Given the description of an element on the screen output the (x, y) to click on. 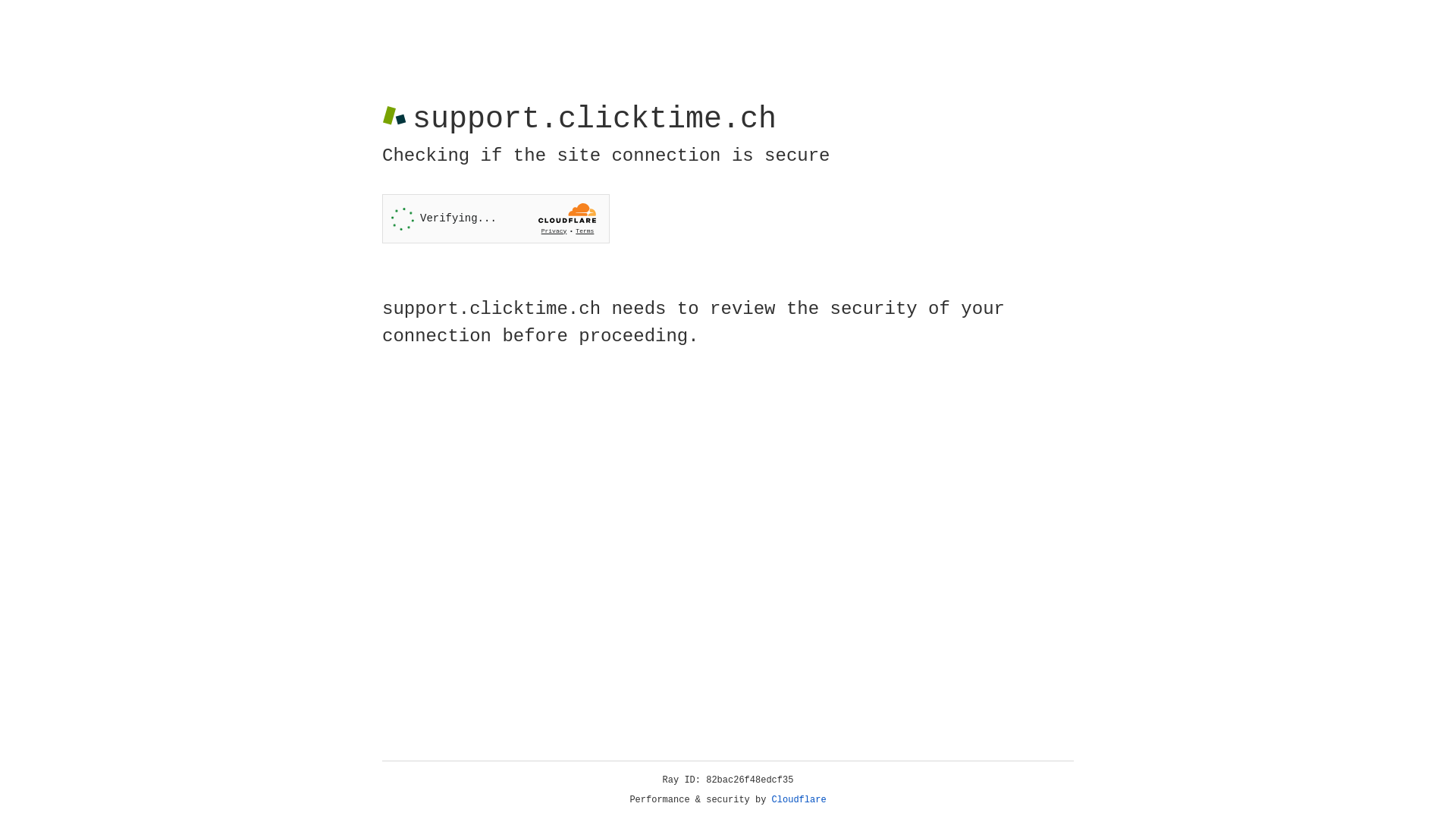
Cloudflare Element type: text (798, 799)
Widget containing a Cloudflare security challenge Element type: hover (495, 218)
